Given the description of an element on the screen output the (x, y) to click on. 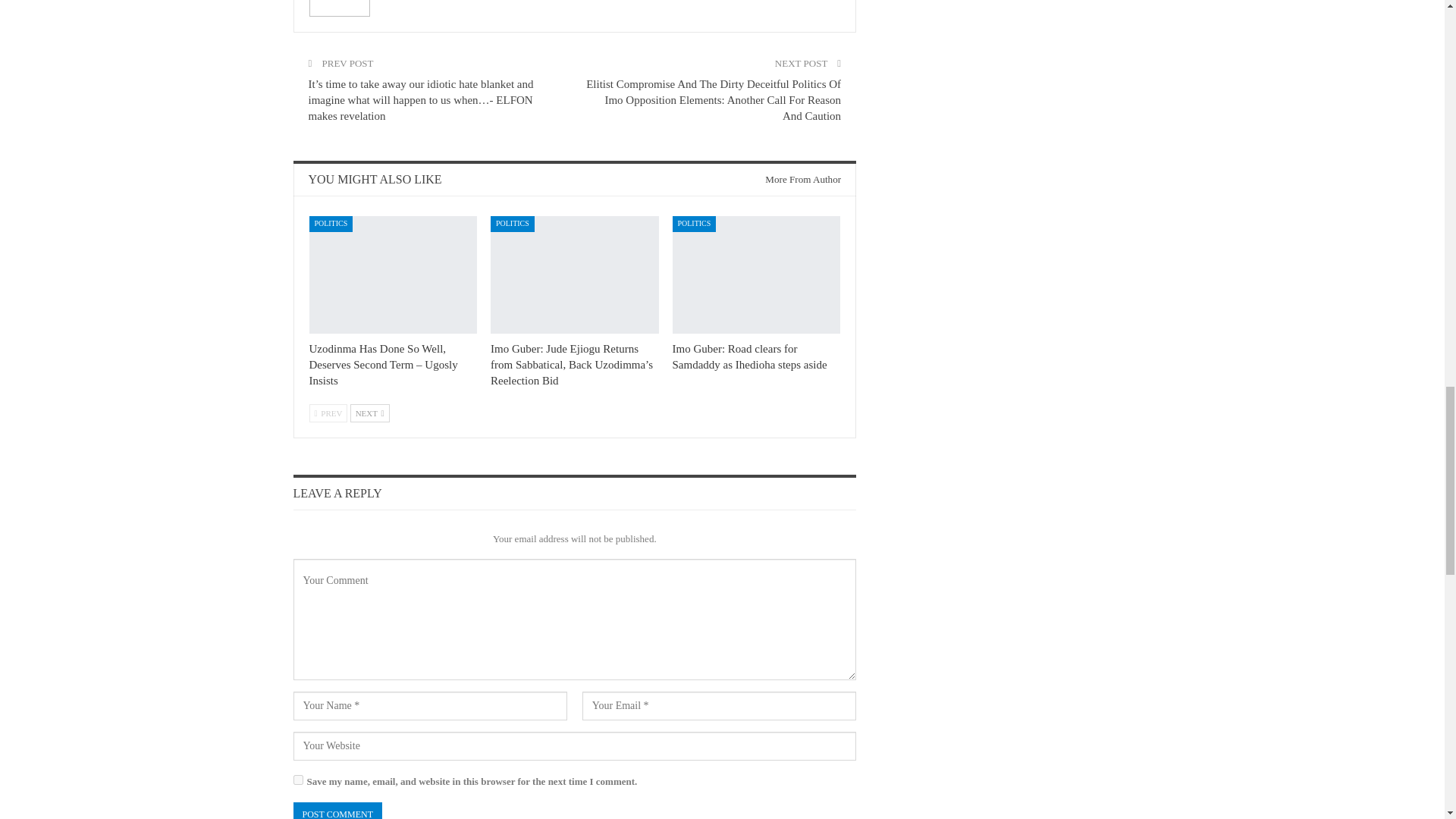
yes (297, 779)
Post Comment (336, 810)
